Given the description of an element on the screen output the (x, y) to click on. 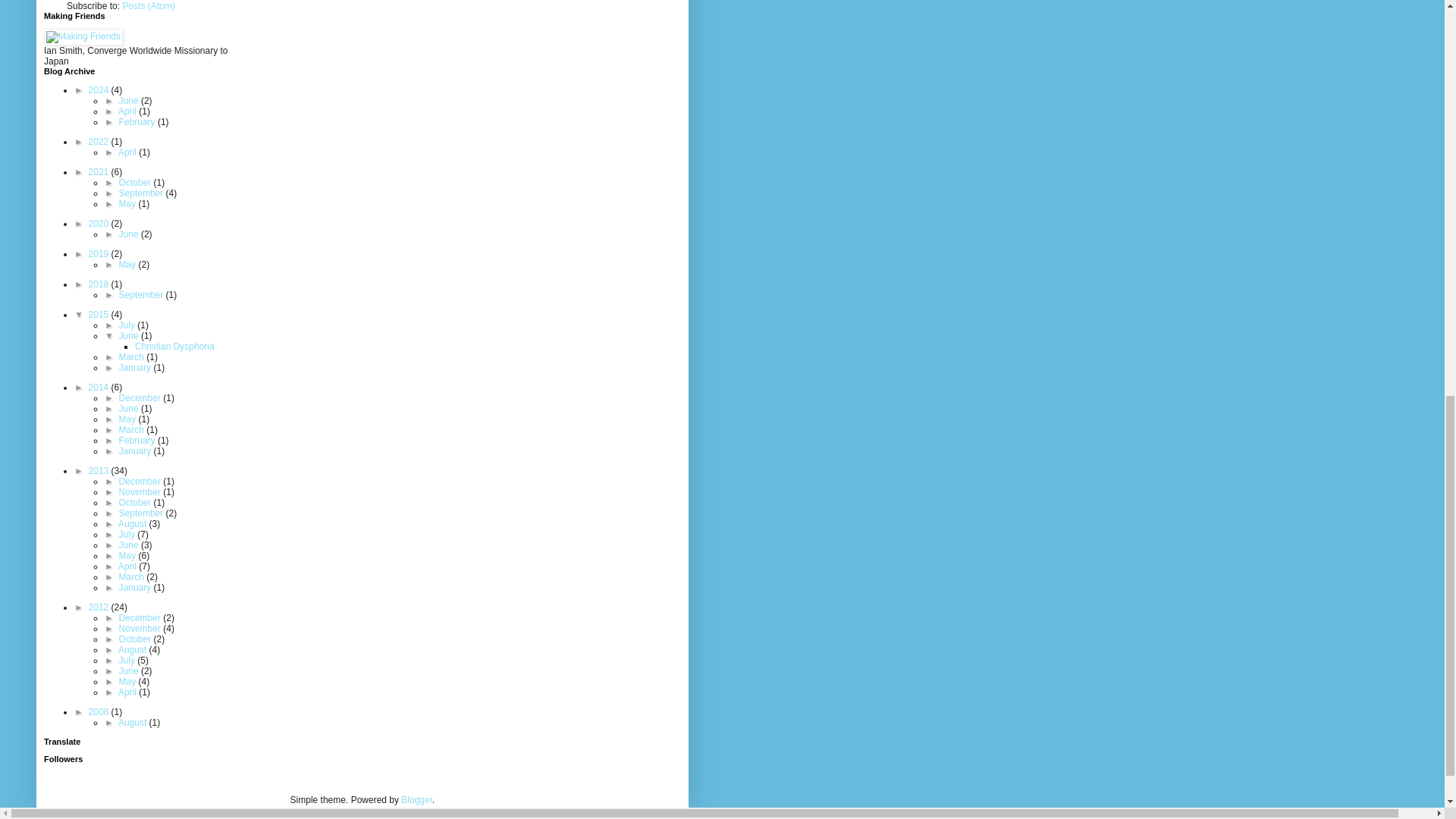
April (127, 111)
October (136, 182)
April (127, 152)
2022 (100, 141)
Newer Posts (95, 2)
February (138, 122)
June (130, 100)
Older Posts (155, 2)
Newer Posts (95, 2)
2024 (100, 90)
Home (201, 2)
2021 (100, 172)
Older Posts (155, 2)
